Given the description of an element on the screen output the (x, y) to click on. 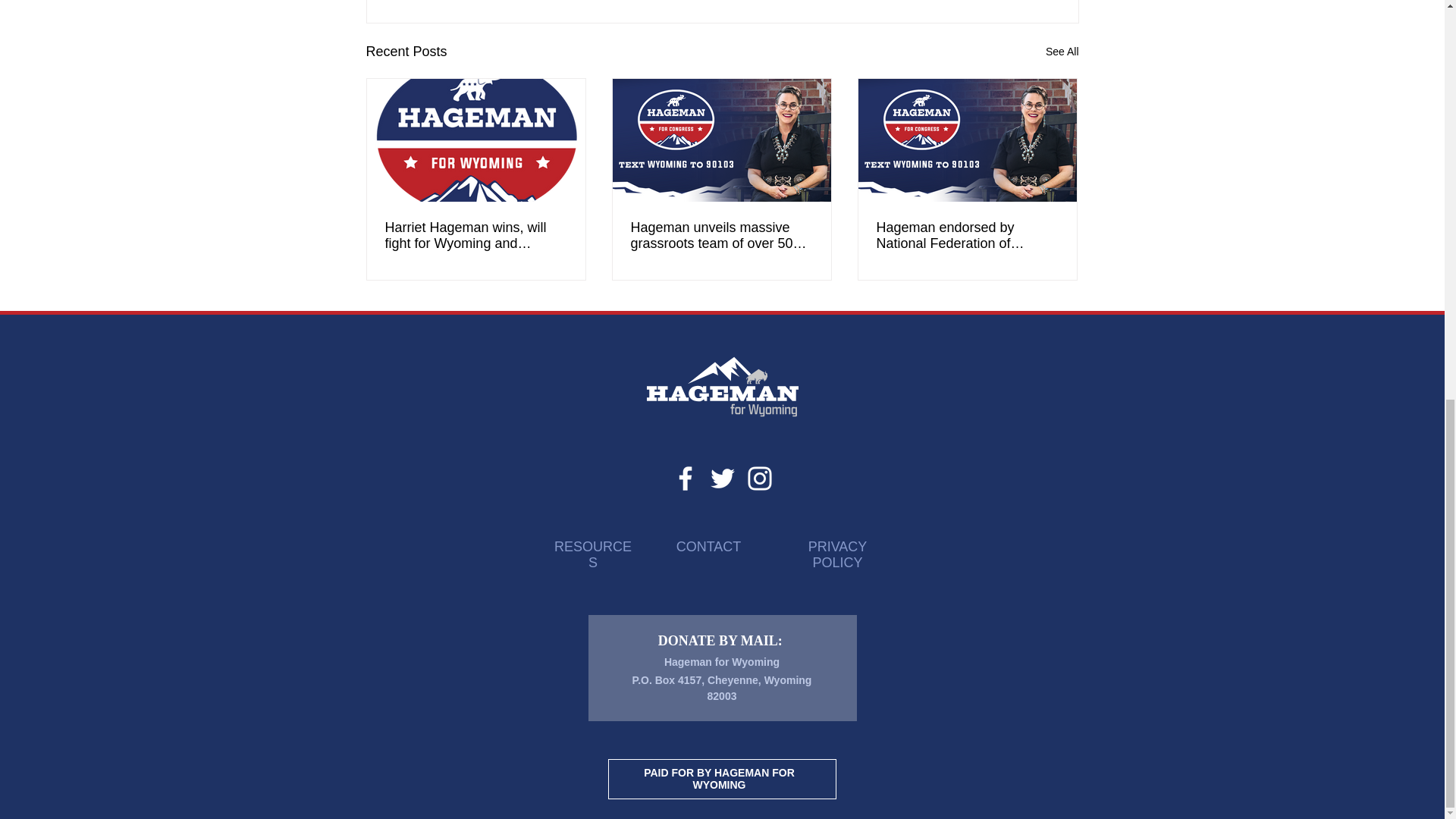
RESOURCES (592, 554)
See All (1061, 51)
CONTACT (709, 546)
PRIVACY POLICY (837, 554)
